Given the description of an element on the screen output the (x, y) to click on. 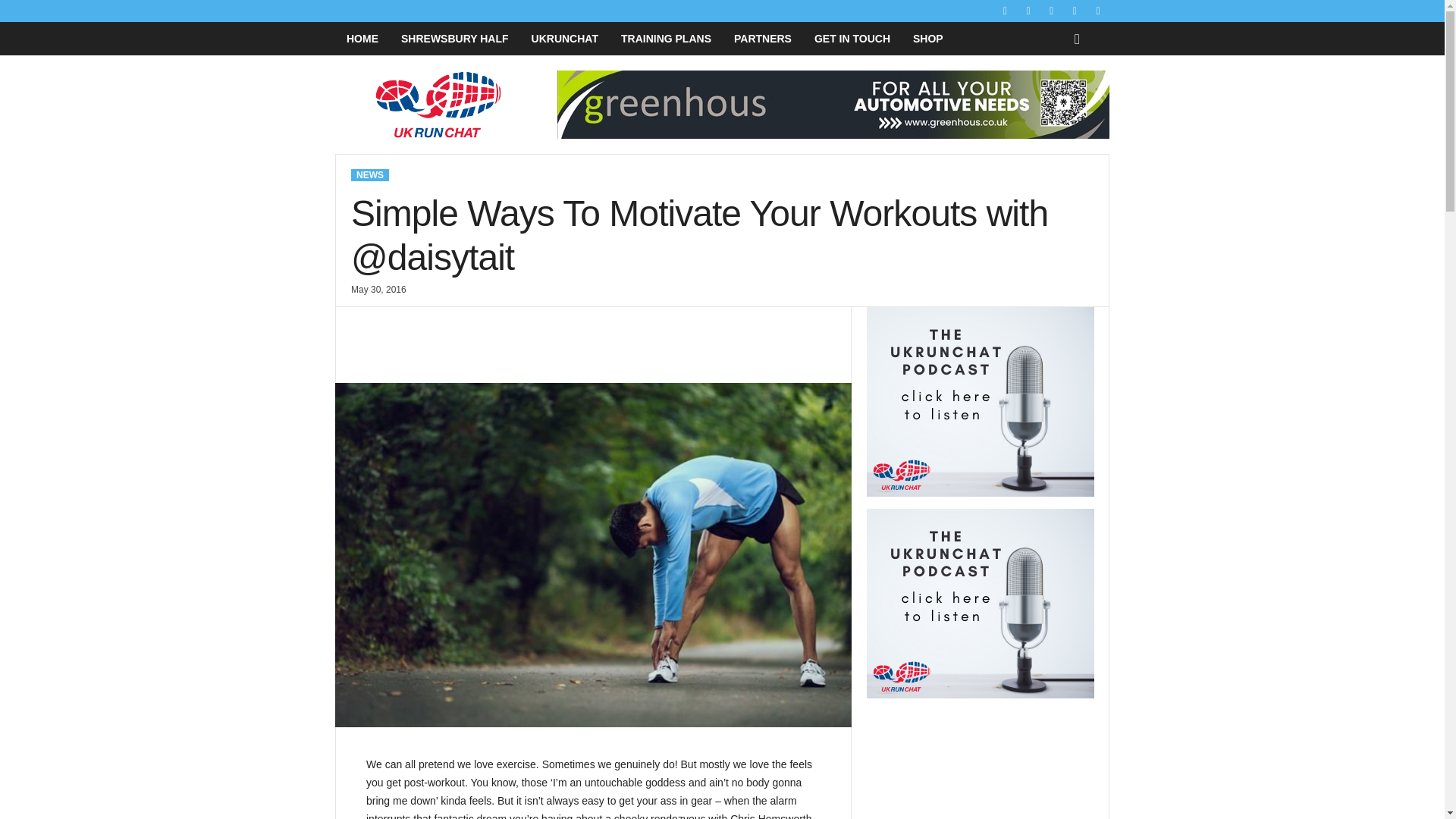
HOME (362, 38)
topFacebookLike (390, 322)
UKRUNCHAT (564, 38)
SHREWSBURY HALF (454, 38)
